Given the description of an element on the screen output the (x, y) to click on. 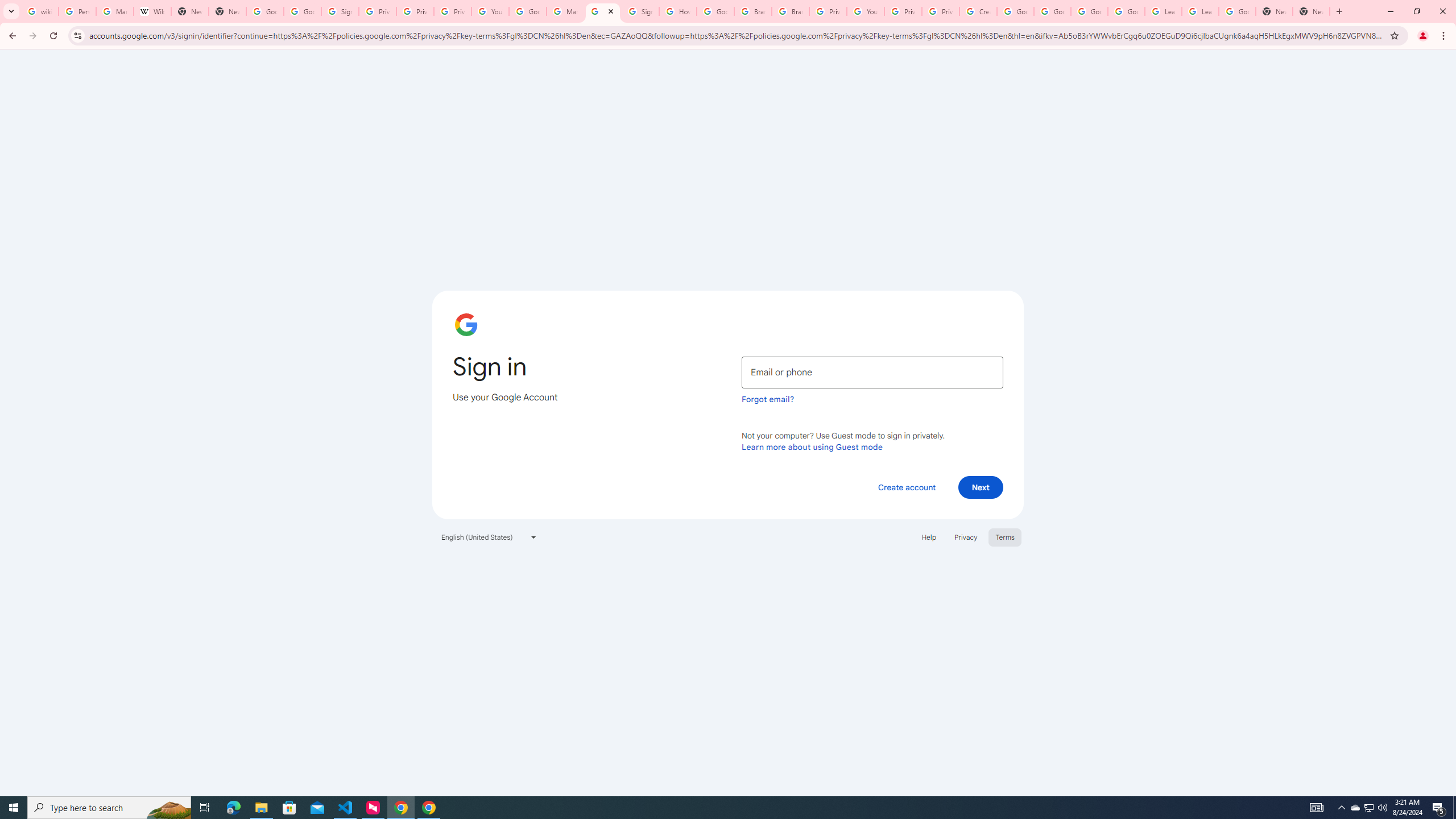
New Tab (227, 11)
Google Account Help (1088, 11)
Brand Resource Center (753, 11)
Create account (905, 486)
Sign in - Google Accounts (602, 11)
